Given the description of an element on the screen output the (x, y) to click on. 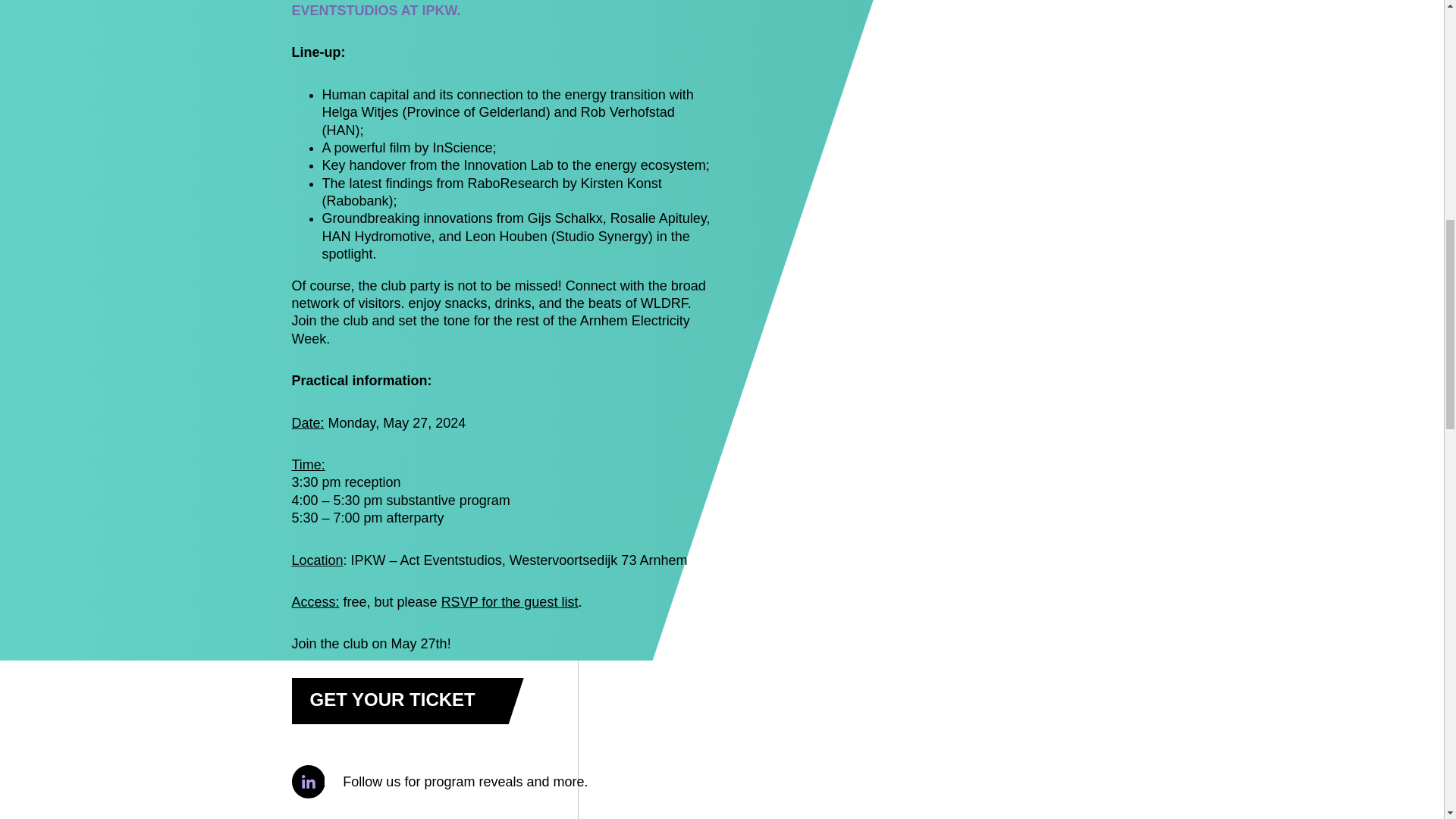
Follow us for program reveals and more. (502, 781)
GET YOUR TICKET (406, 700)
RSVP for the guest list (509, 601)
